Given the description of an element on the screen output the (x, y) to click on. 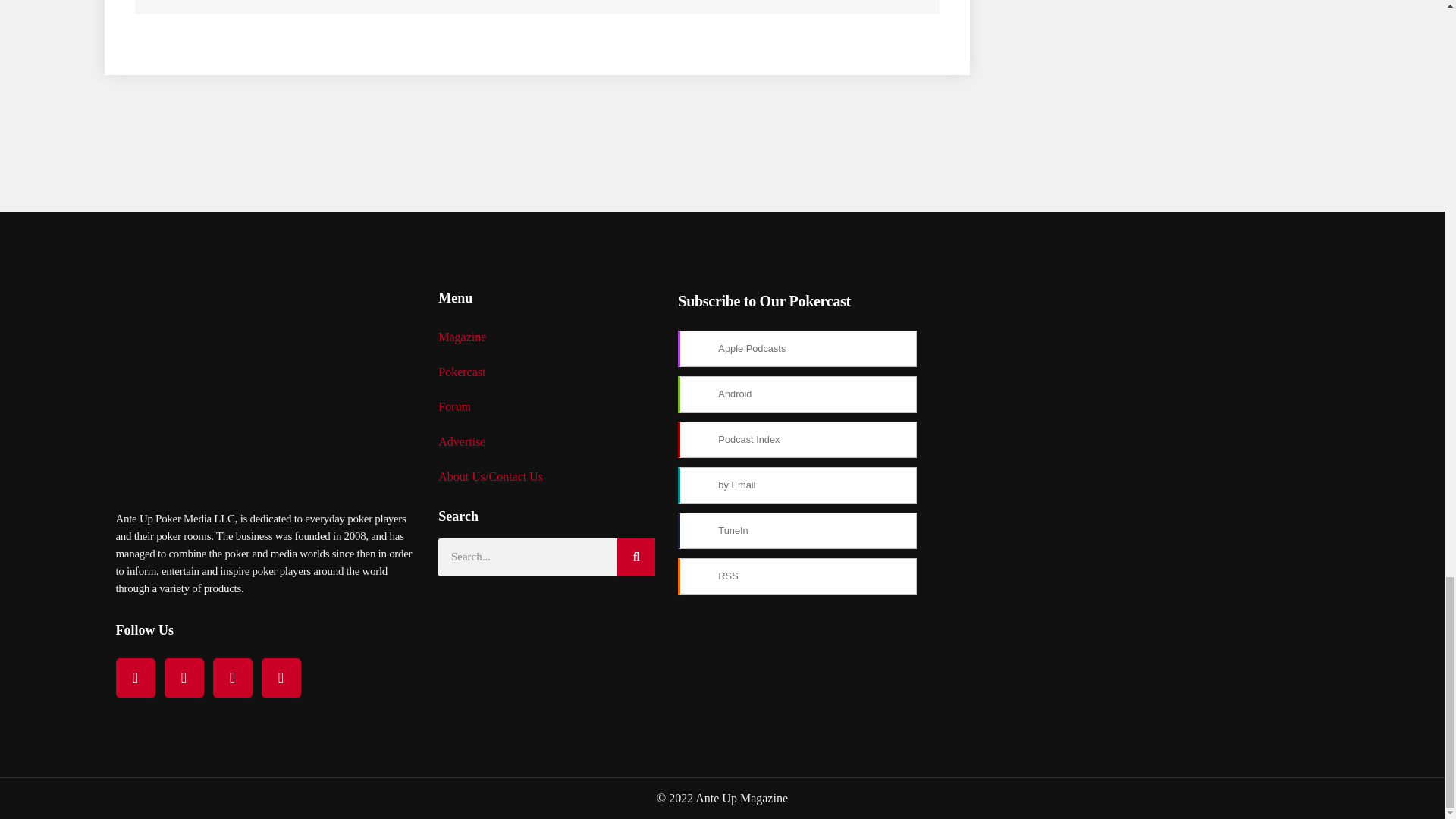
Subscribe by Email (797, 484)
Subscribe on TuneIn (797, 530)
Subscribe on Apple Podcasts (797, 348)
Subscribe on Podcast Index (797, 439)
Subscribe via RSS (797, 575)
Subscribe on Android (797, 393)
